Given the description of an element on the screen output the (x, y) to click on. 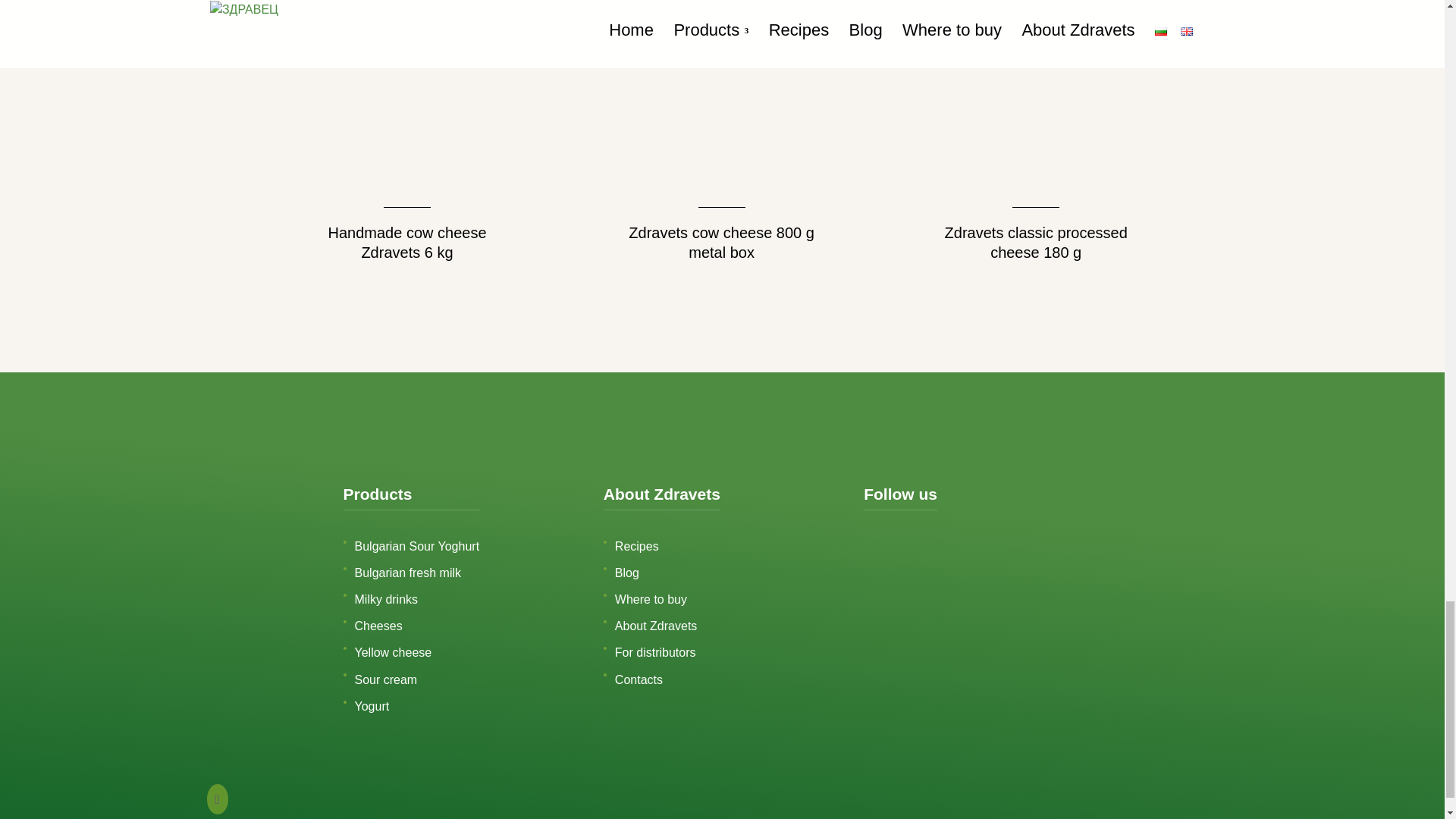
Bulgarian Sour Yoghurt (416, 546)
Zdravets cow cheese 800 g metal box (720, 135)
Zdravets classic processed cheese 180 g (1036, 135)
Handmade cow cheese Zdravets 6 kg (406, 135)
